Given the description of an element on the screen output the (x, y) to click on. 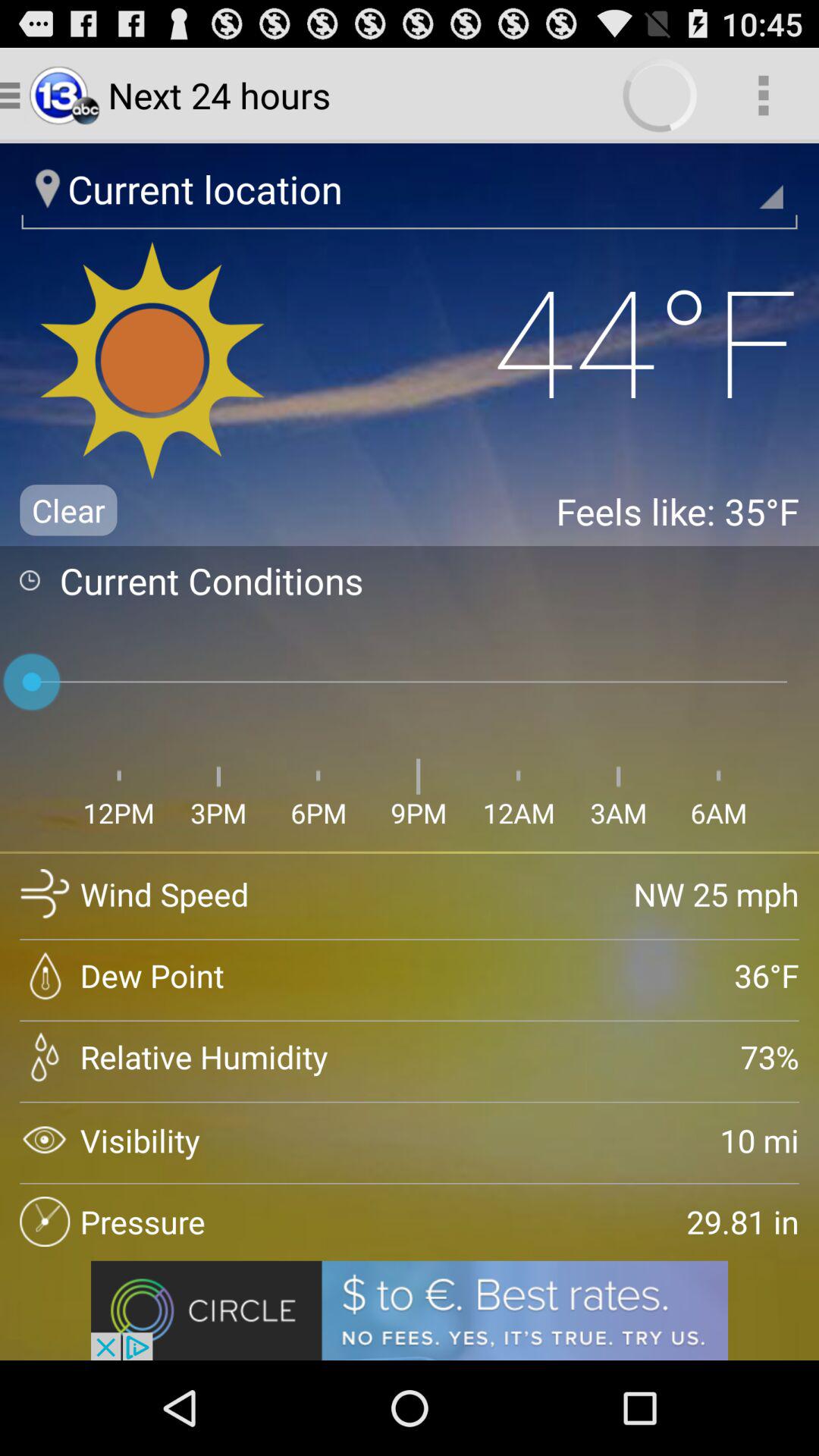
turn on the app to the right of next 24 hours item (763, 95)
